Given the description of an element on the screen output the (x, y) to click on. 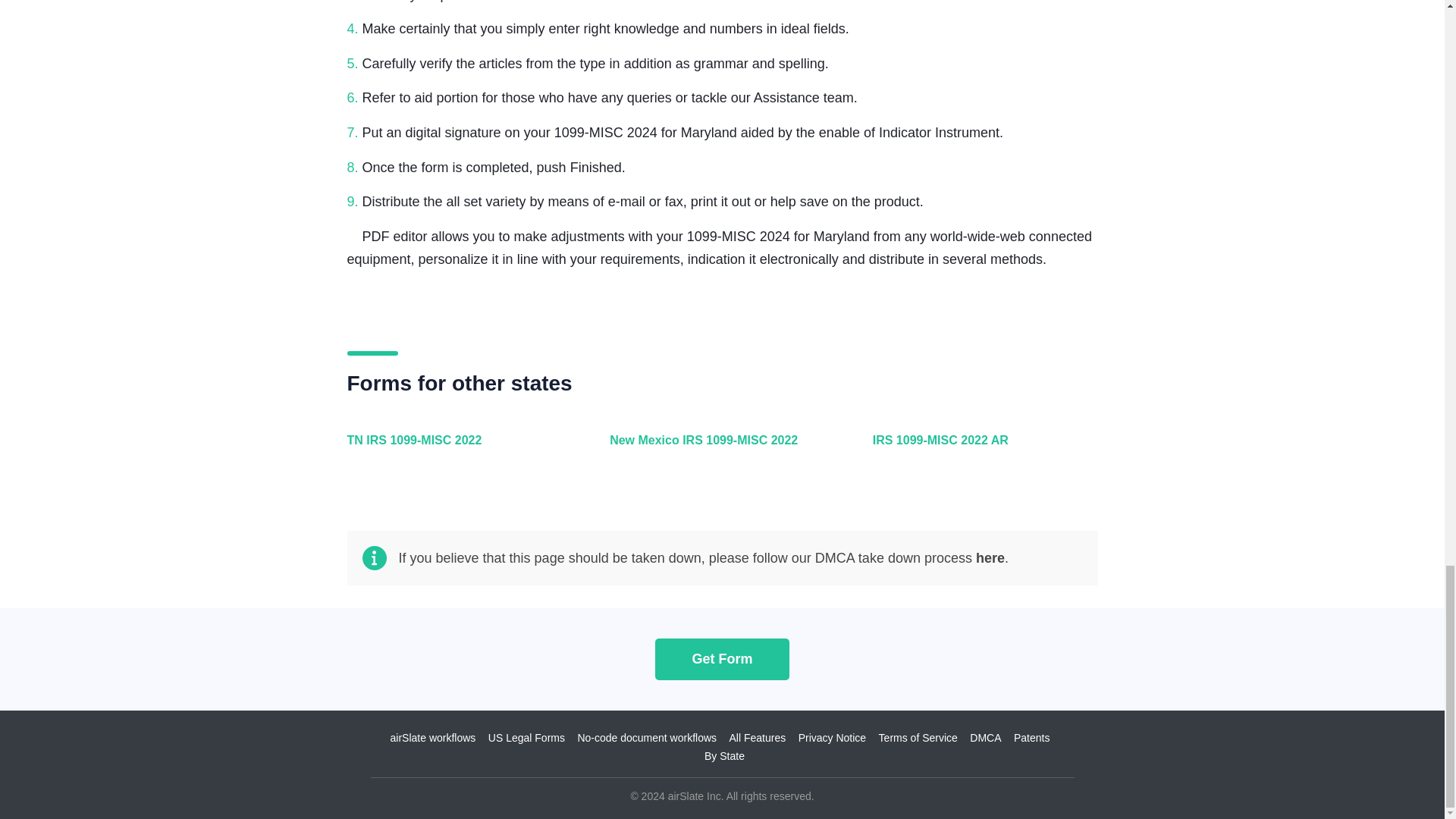
DMCA (985, 737)
Terms of Service (918, 737)
TN IRS 1099-MISC 2022 (456, 448)
airSlate workflows (433, 737)
here (989, 557)
US Legal Forms (525, 737)
IRS 1099-MISC 2022 AR (981, 448)
Get Form (722, 658)
By State (724, 756)
Privacy Notice (831, 737)
